Given the description of an element on the screen output the (x, y) to click on. 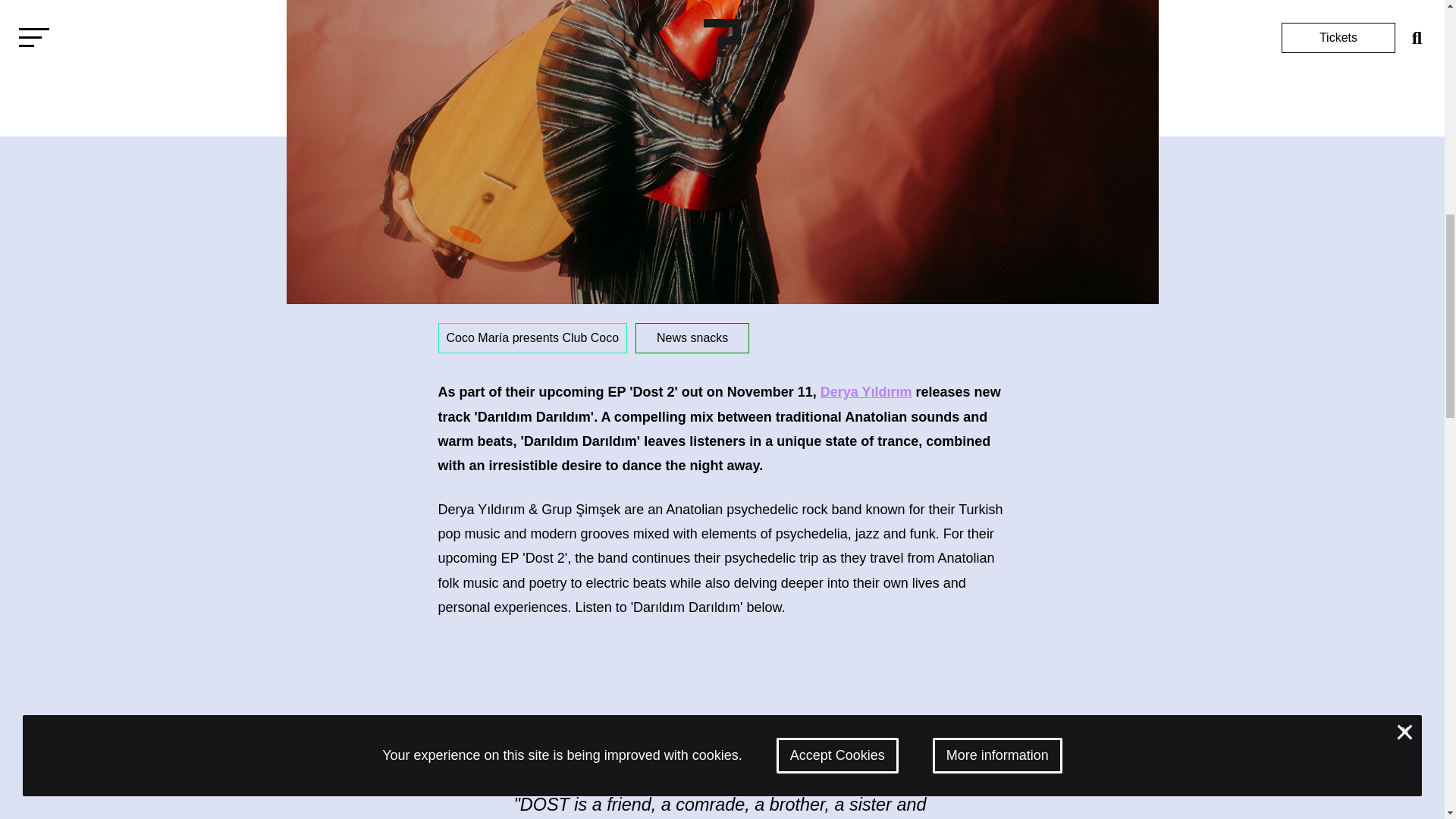
News snacks (691, 337)
